Given the description of an element on the screen output the (x, y) to click on. 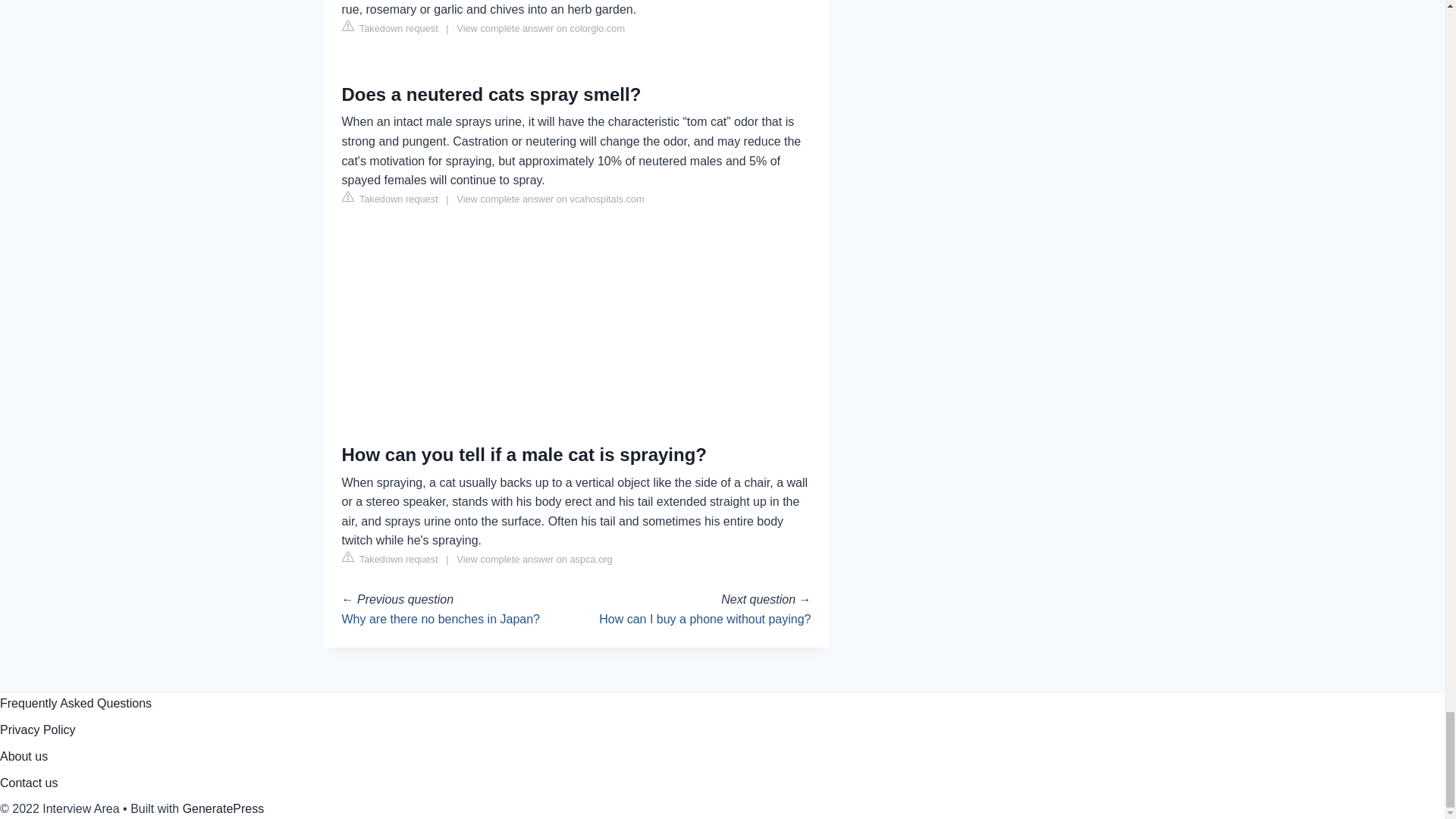
Frequently Asked Questions (75, 703)
